Given the description of an element on the screen output the (x, y) to click on. 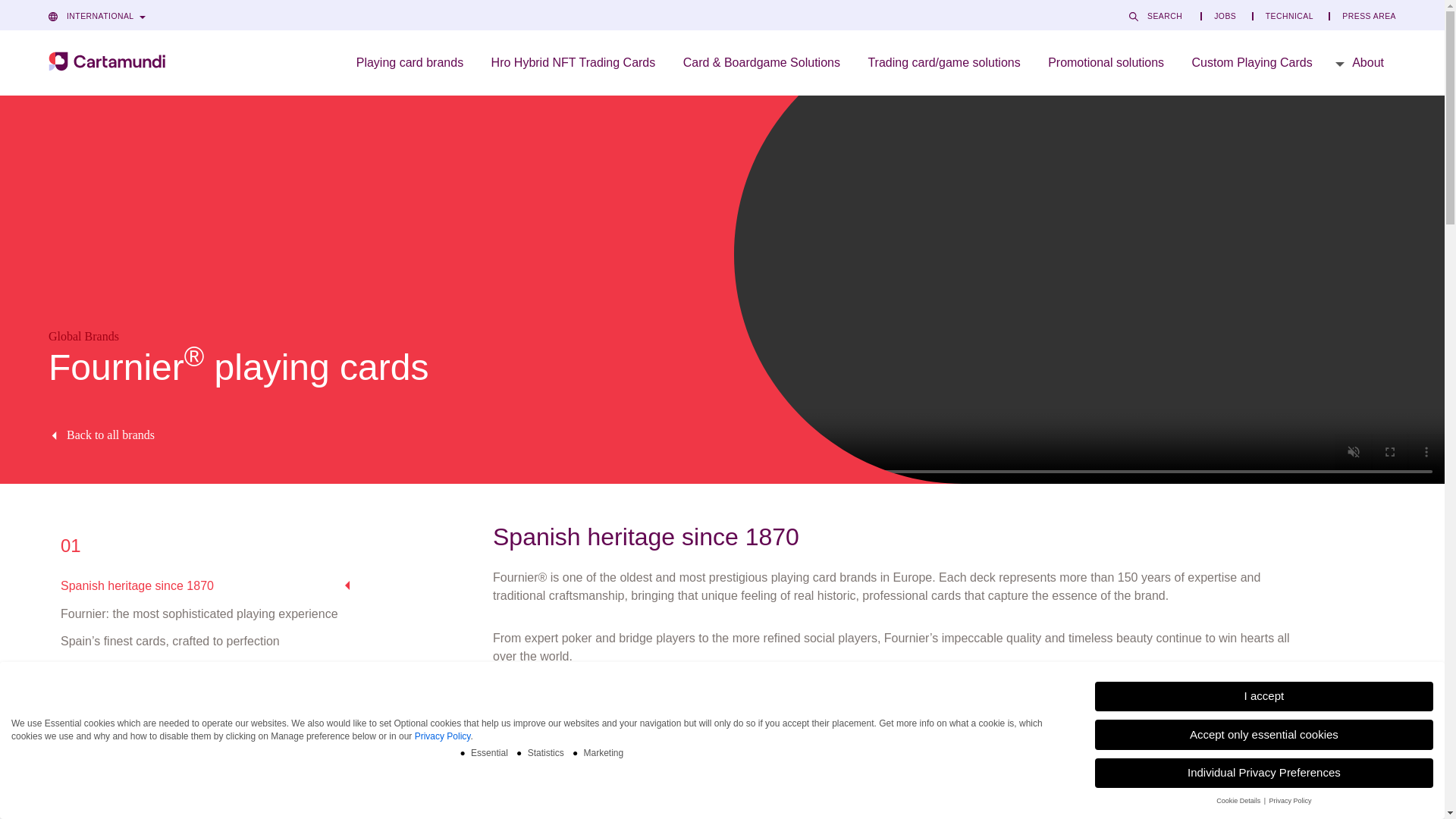
Hro Hybrid NFT Trading Cards (573, 62)
Back to all brands (409, 435)
INTERNATIONAL (104, 16)
About (1361, 62)
JOBS (1223, 16)
Open Cookie Preferences (1411, 799)
Select your country: (104, 16)
PRESS AREA (1361, 16)
Search for: (1164, 16)
Playing card brands (409, 62)
Custom Playing Cards (1251, 62)
Promotional solutions (1105, 62)
TECHNICAL (1288, 16)
SEARCH (1164, 16)
